Given the description of an element on the screen output the (x, y) to click on. 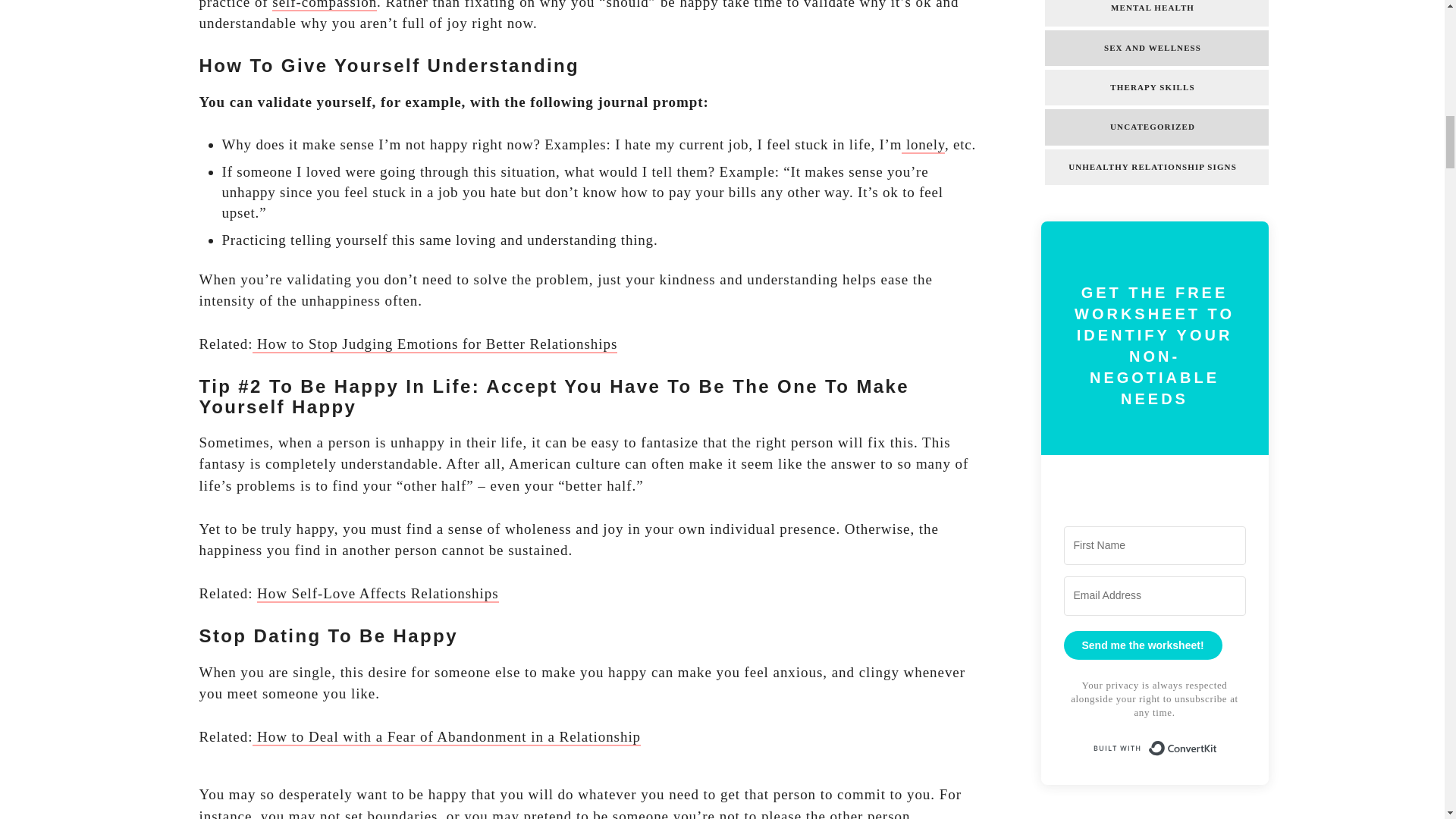
How Self-Love Affects Relationships (377, 593)
self-compassion (324, 5)
How to Stop Judging Emotions for Better Relationships (434, 343)
lonely (922, 144)
How to Deal with a Fear of Abandonment in a Relationship (445, 737)
set boundaries (391, 813)
